Given the description of an element on the screen output the (x, y) to click on. 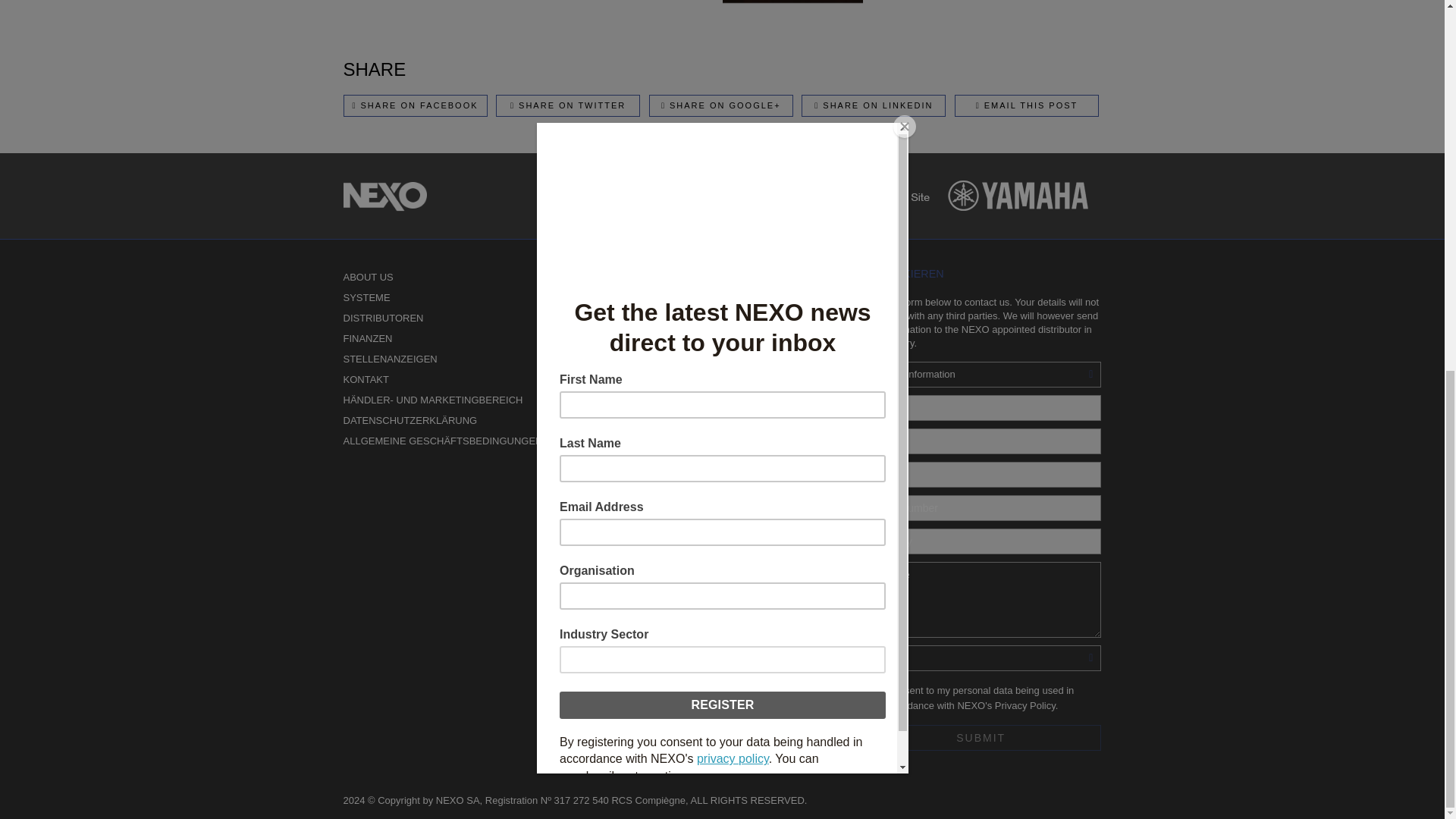
Submit (981, 737)
